Given the description of an element on the screen output the (x, y) to click on. 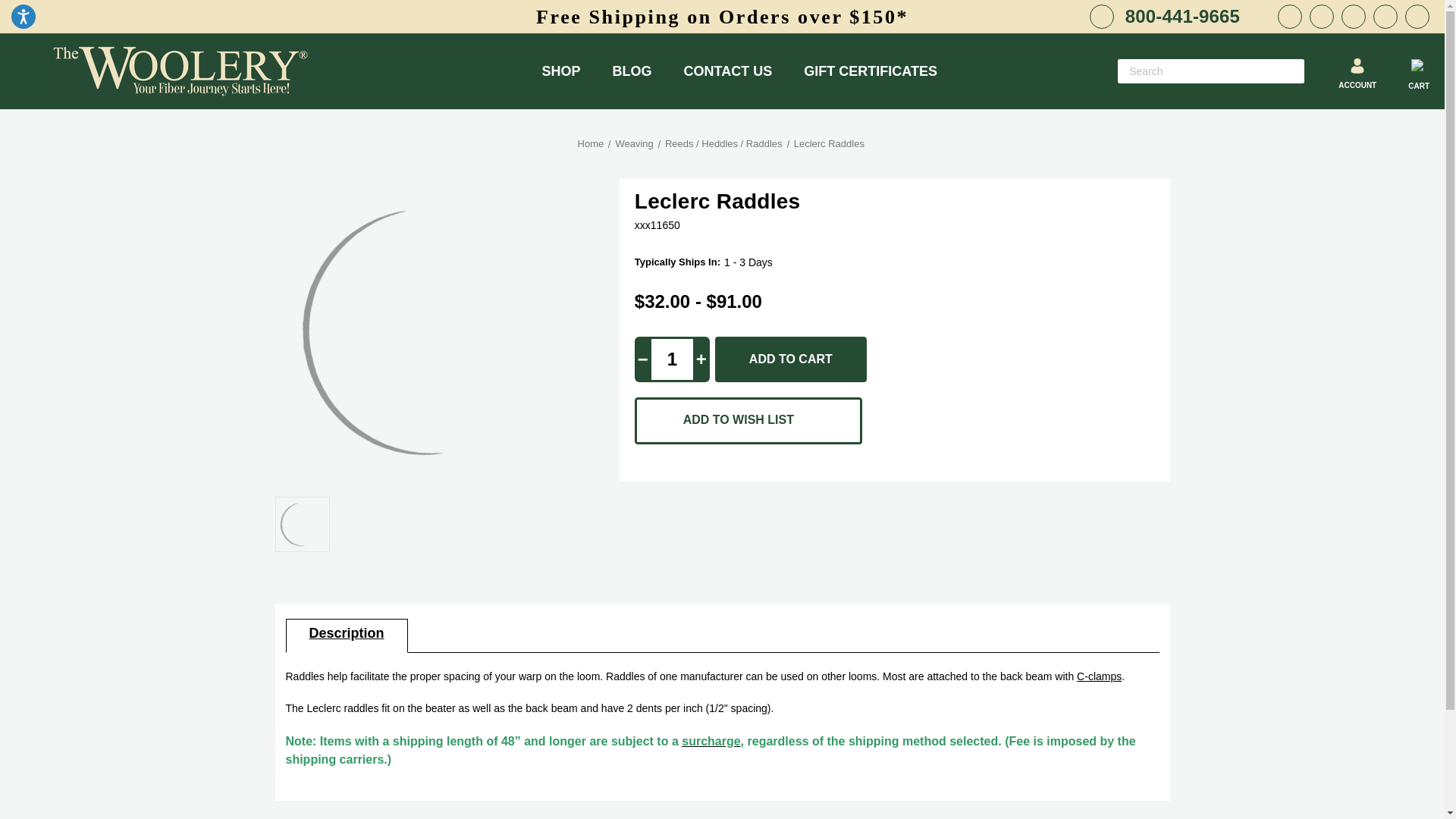
Leclerc Raddles (303, 524)
Leclerc Raddles (427, 330)
Instagram (1320, 16)
Youtube (1352, 16)
Facebook (1289, 16)
C-Clamp (1099, 676)
GIFT CERTIFICATES (870, 70)
Shipping Surcharge (710, 740)
CONTACT US (728, 70)
SHOP (560, 70)
